Given the description of an element on the screen output the (x, y) to click on. 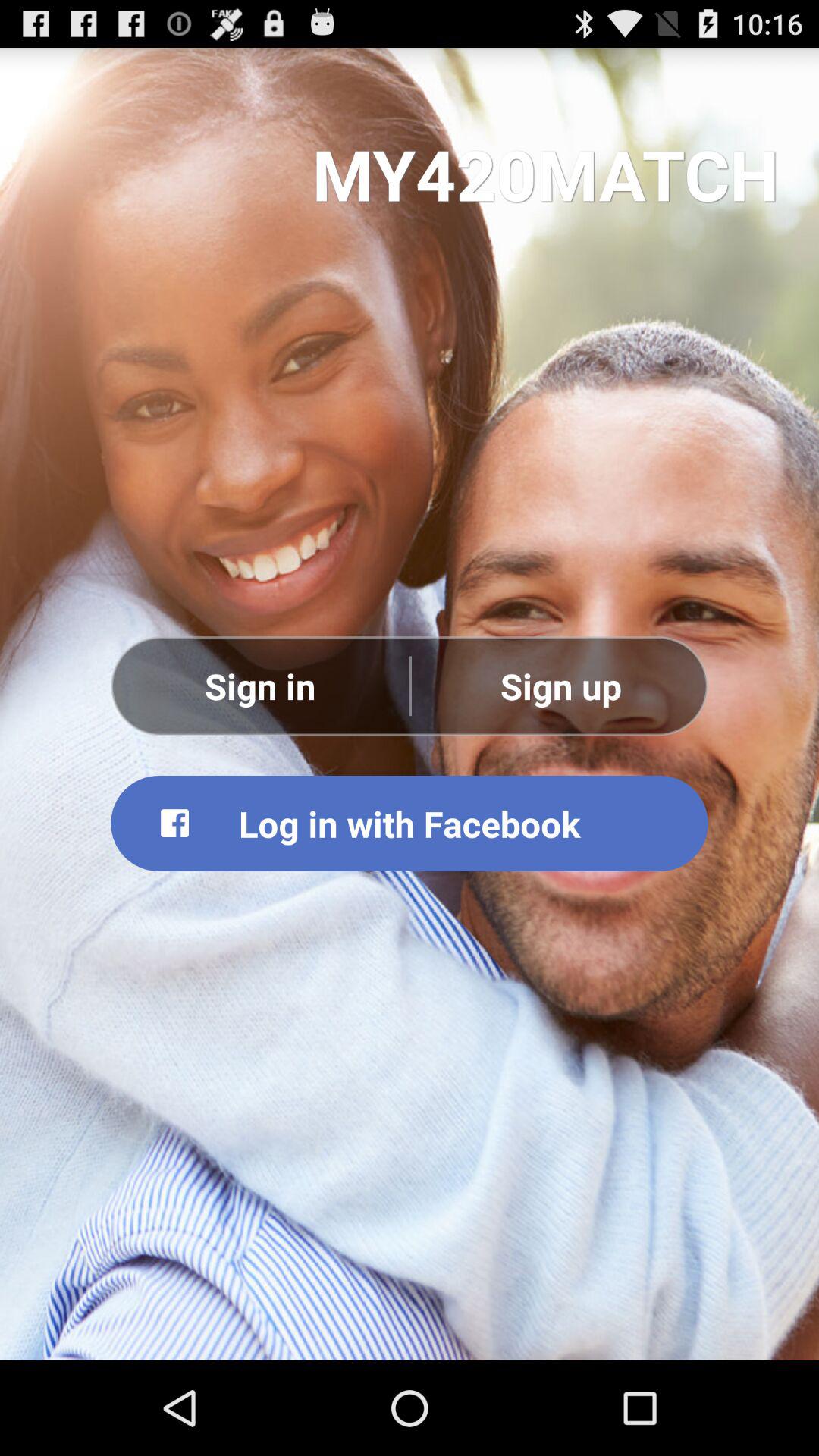
choose icon above the log in with item (559, 685)
